Given the description of an element on the screen output the (x, y) to click on. 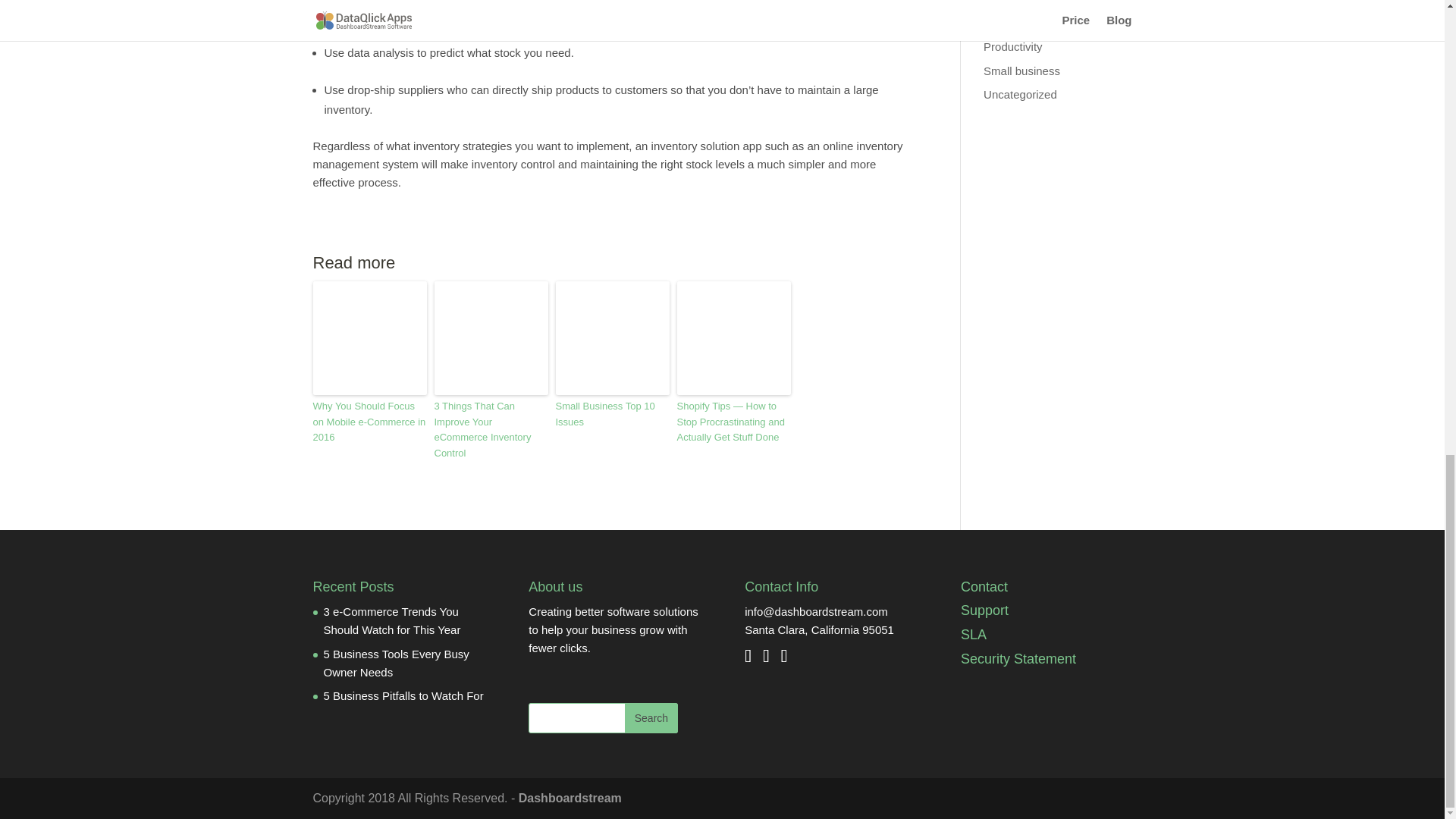
Uncategorized (1020, 93)
KPI (992, 2)
Why You Should Focus on Mobile e-Commerce in 2016 (369, 421)
Small business (1021, 70)
Search (651, 717)
3 Things That Can Improve Your eCommerce Inventory Control (490, 429)
Small Business Top 10 Issues (611, 414)
Productivity (1013, 46)
Multi-channel sales (1032, 22)
3 e-Commerce Trends You Should Watch for This Year (391, 620)
